Given the description of an element on the screen output the (x, y) to click on. 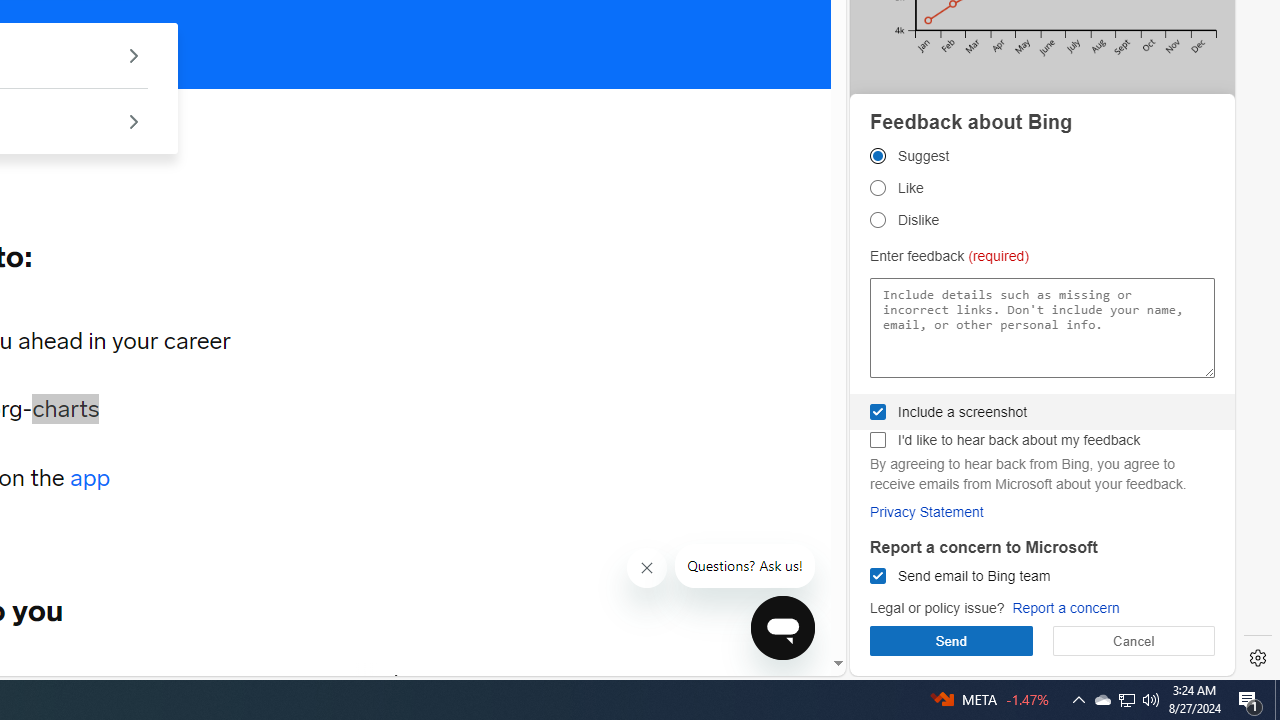
Send (951, 640)
Suggest (877, 156)
STRATEGY (283, 681)
Cancel (1133, 640)
Close message from company (647, 567)
